Given the description of an element on the screen output the (x, y) to click on. 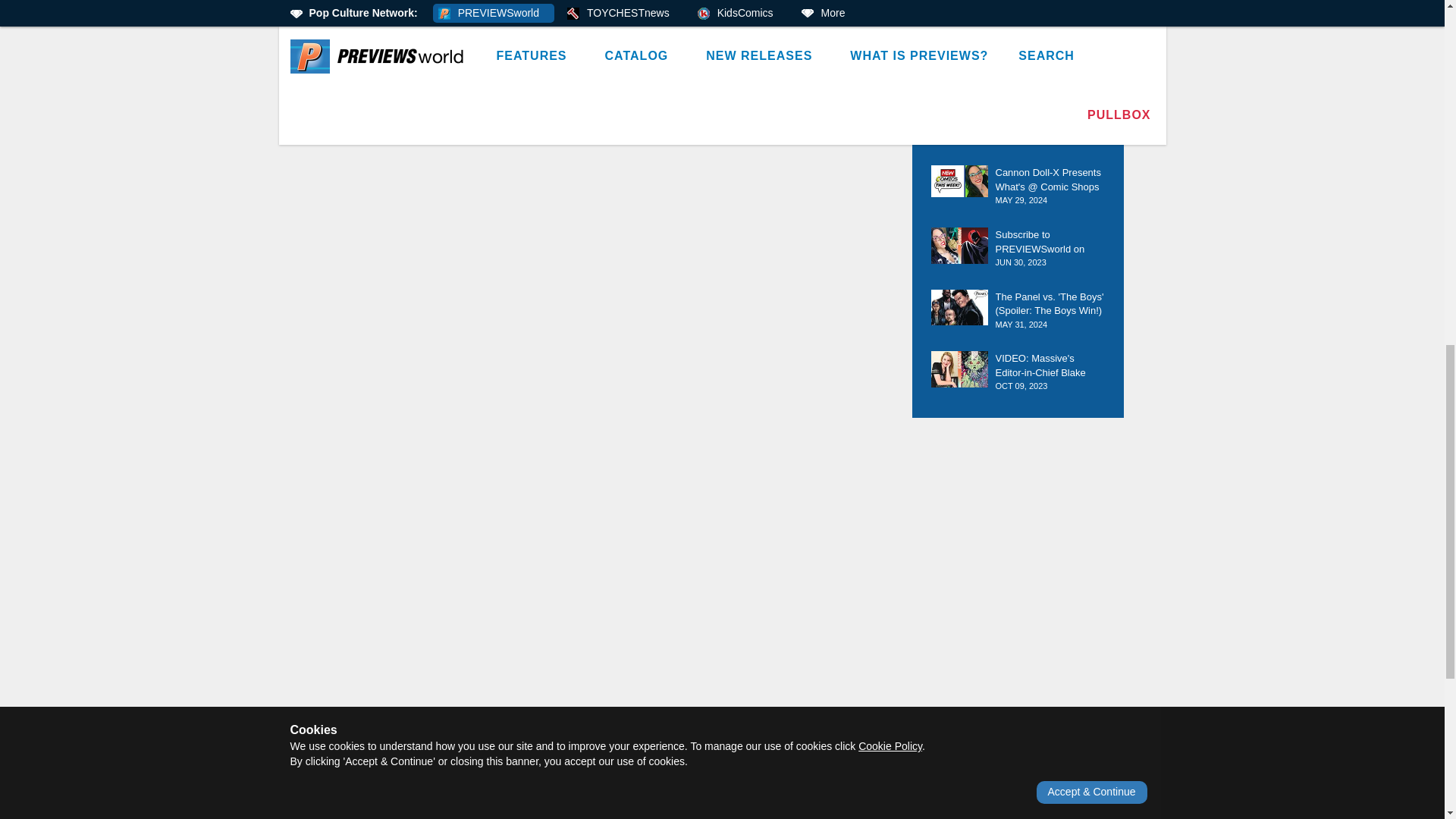
3rd party ad content (722, 744)
